Given the description of an element on the screen output the (x, y) to click on. 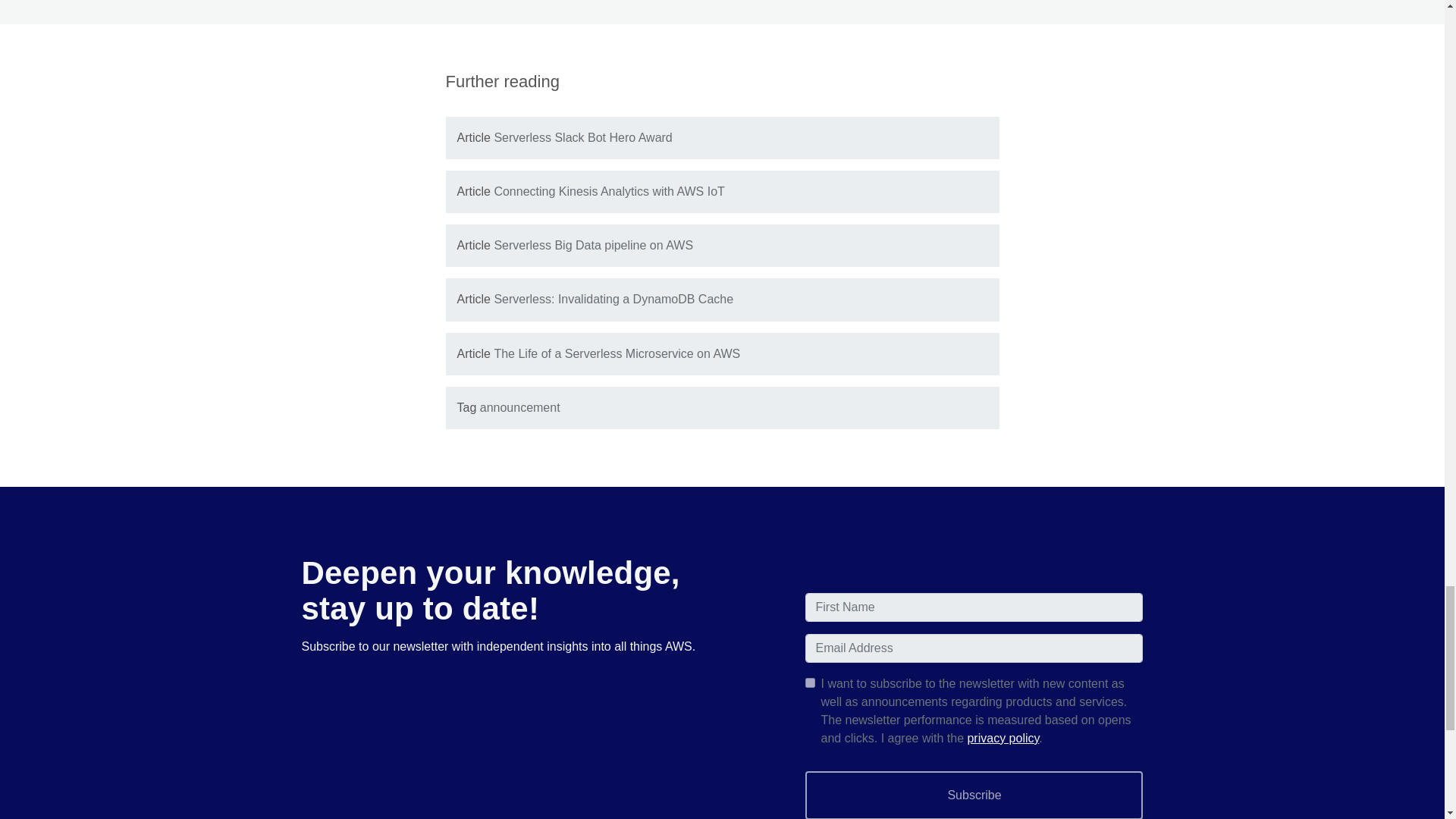
true (810, 682)
announcement (520, 407)
